Given the description of an element on the screen output the (x, y) to click on. 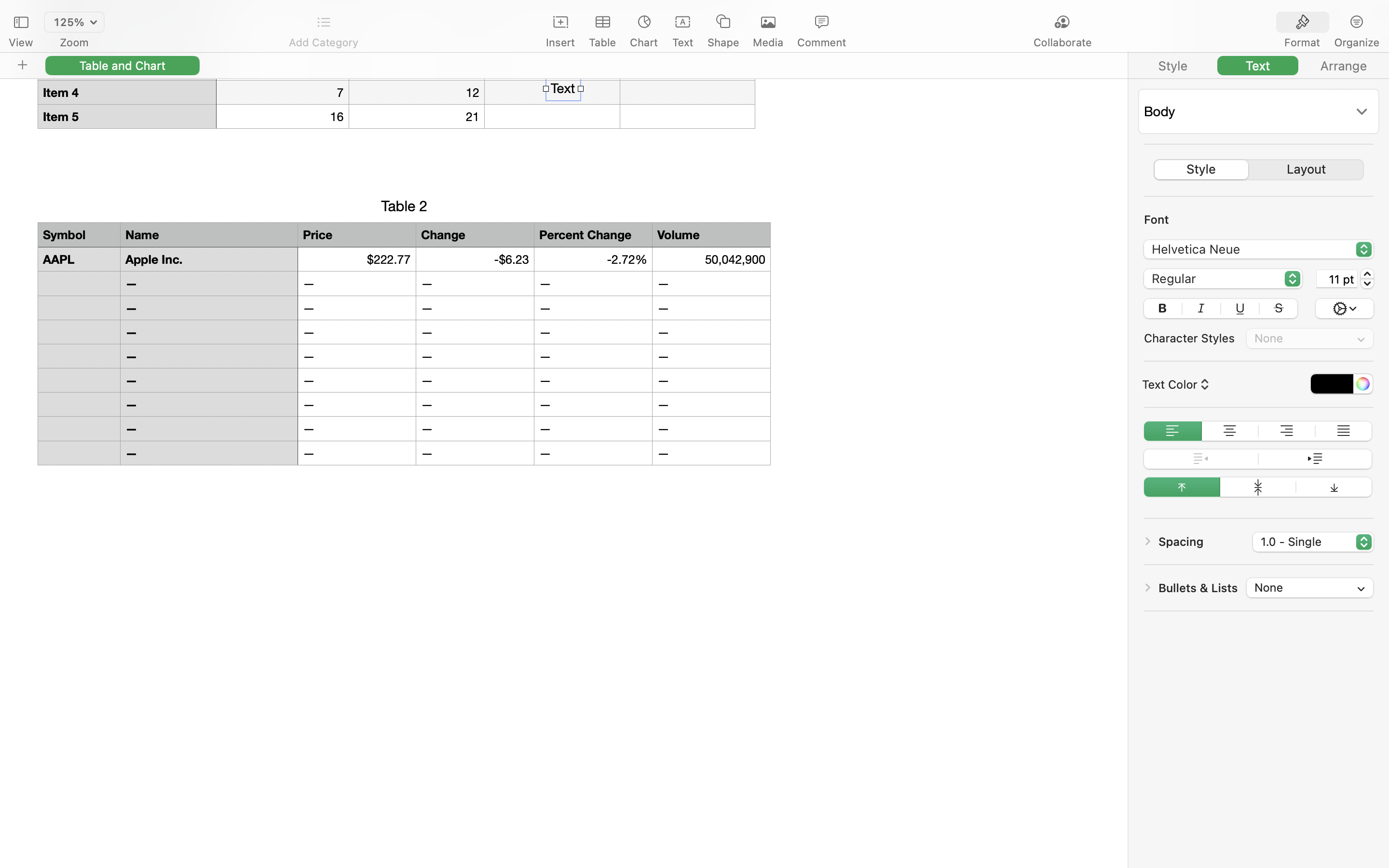
Character Styles Element type: AXStaticText (1189, 337)
<AXUIElement 0x150d98cc0> {pid=1420} Element type: AXRadioGroup (1258, 169)
Media Element type: AXStaticText (767, 42)
